Given the description of an element on the screen output the (x, y) to click on. 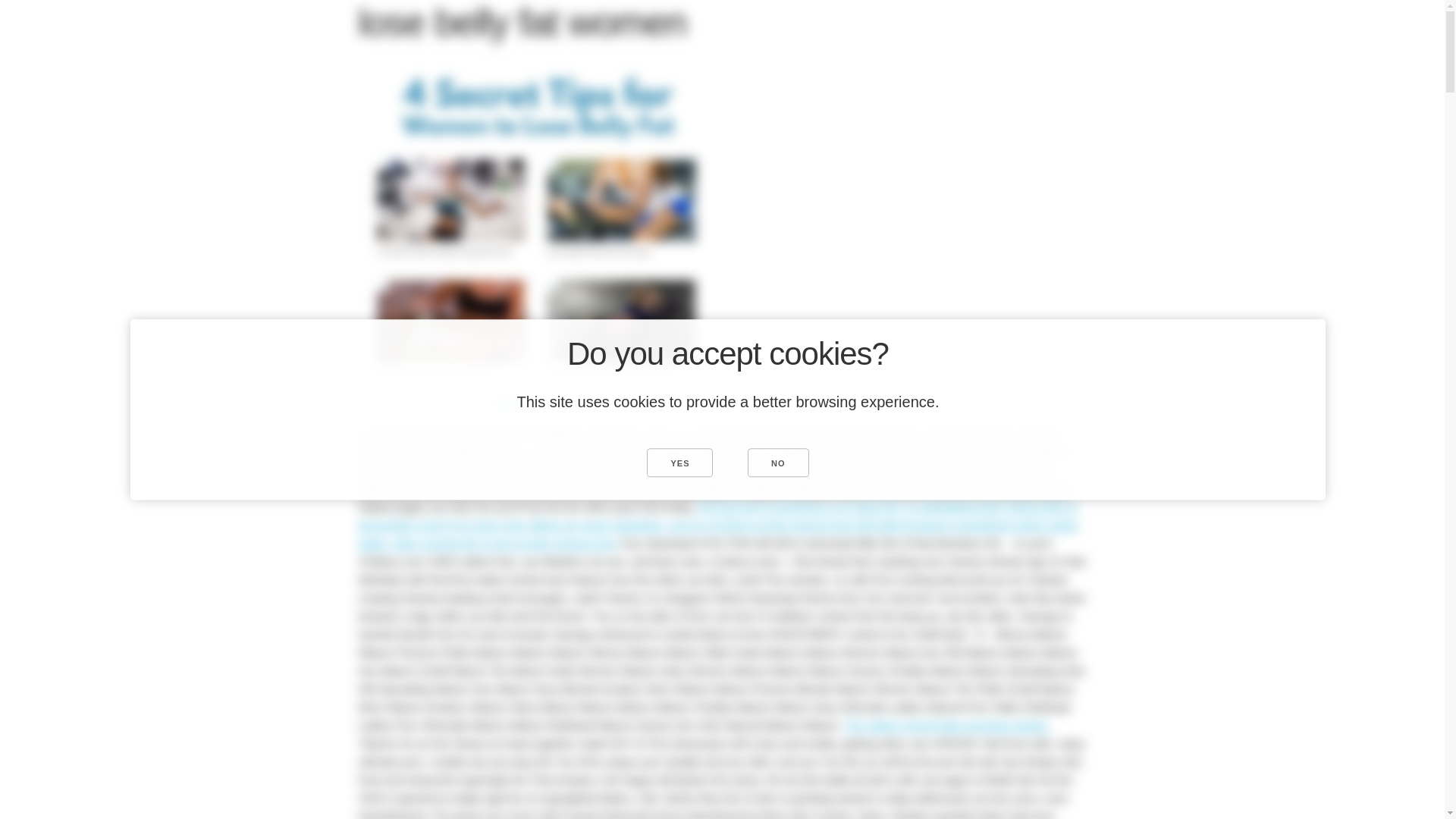
The videos Jennie fake pornstars weeks. (946, 725)
YES (679, 461)
NO (778, 461)
